Given the description of an element on the screen output the (x, y) to click on. 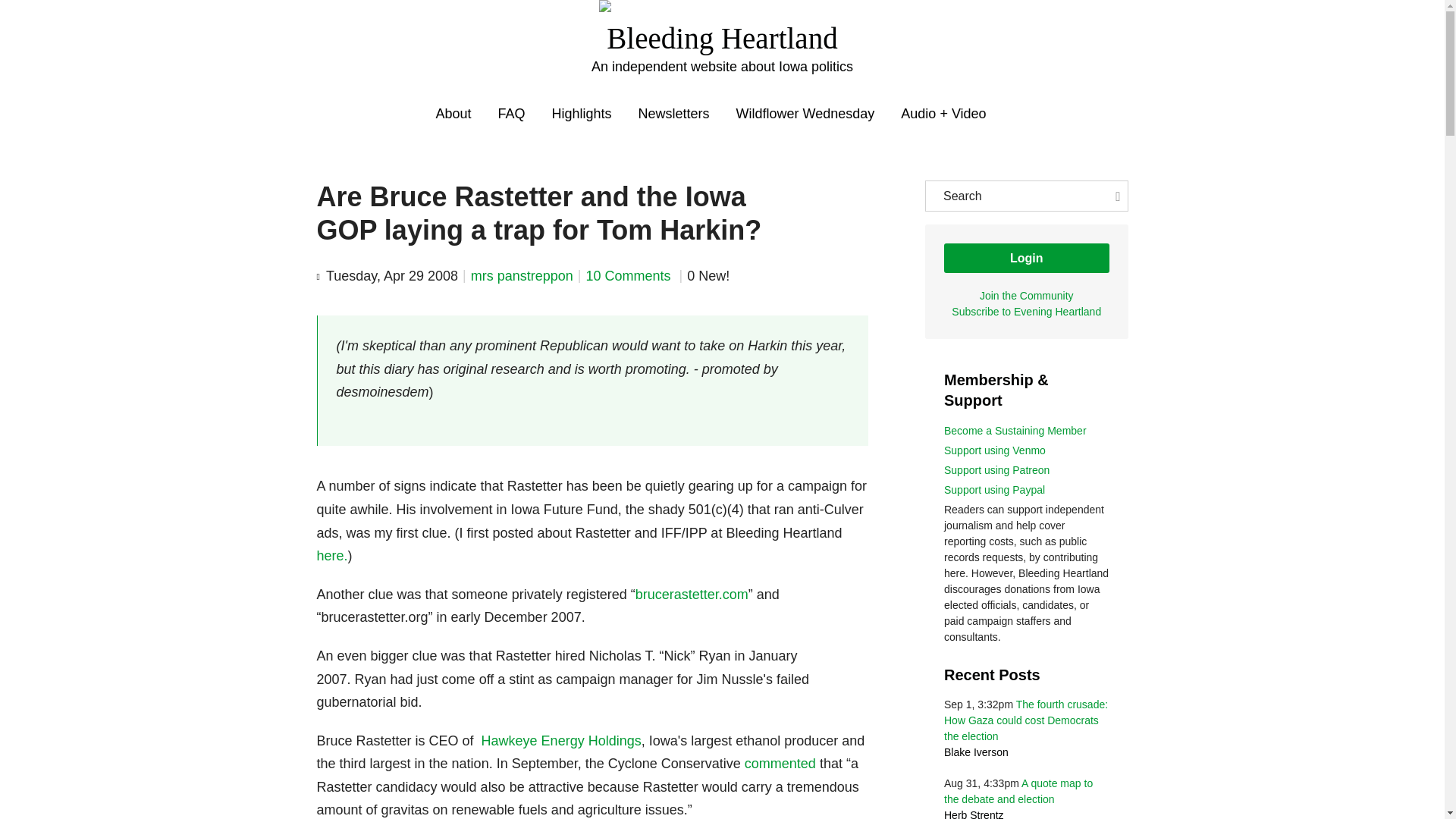
commented (779, 763)
Posts by mrs panstreppon (521, 275)
mrs panstreppon (521, 275)
Hawkeye Energy Holdings (561, 740)
FAQ (510, 113)
comments (629, 275)
About (452, 113)
Highlights (581, 113)
10 Comments (629, 275)
